Given the description of an element on the screen output the (x, y) to click on. 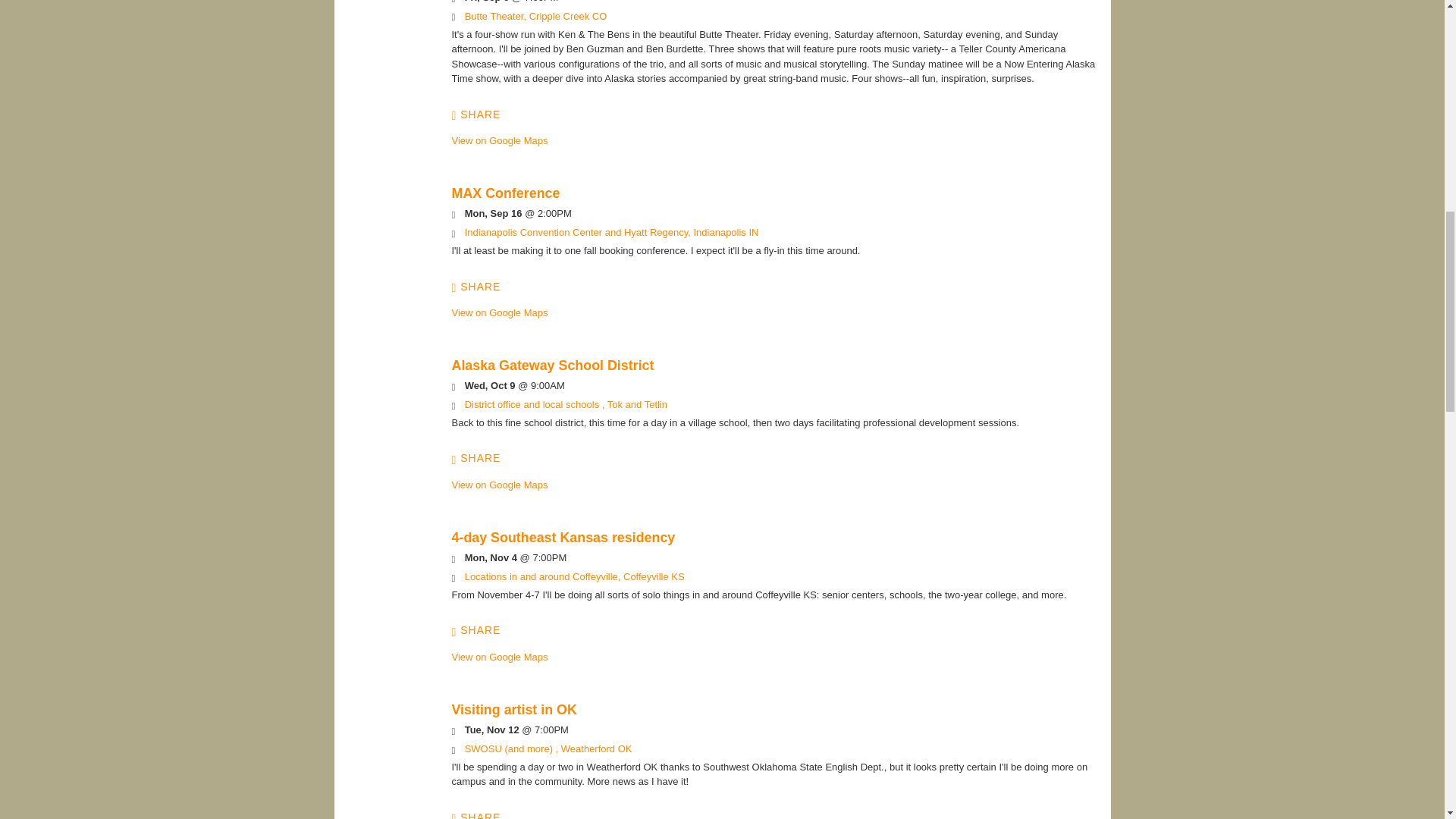
View on Google Maps (535, 16)
View on Google Maps (565, 404)
View on Google Maps (547, 748)
View on Google Maps (611, 232)
View on Google Maps (574, 576)
